Given the description of an element on the screen output the (x, y) to click on. 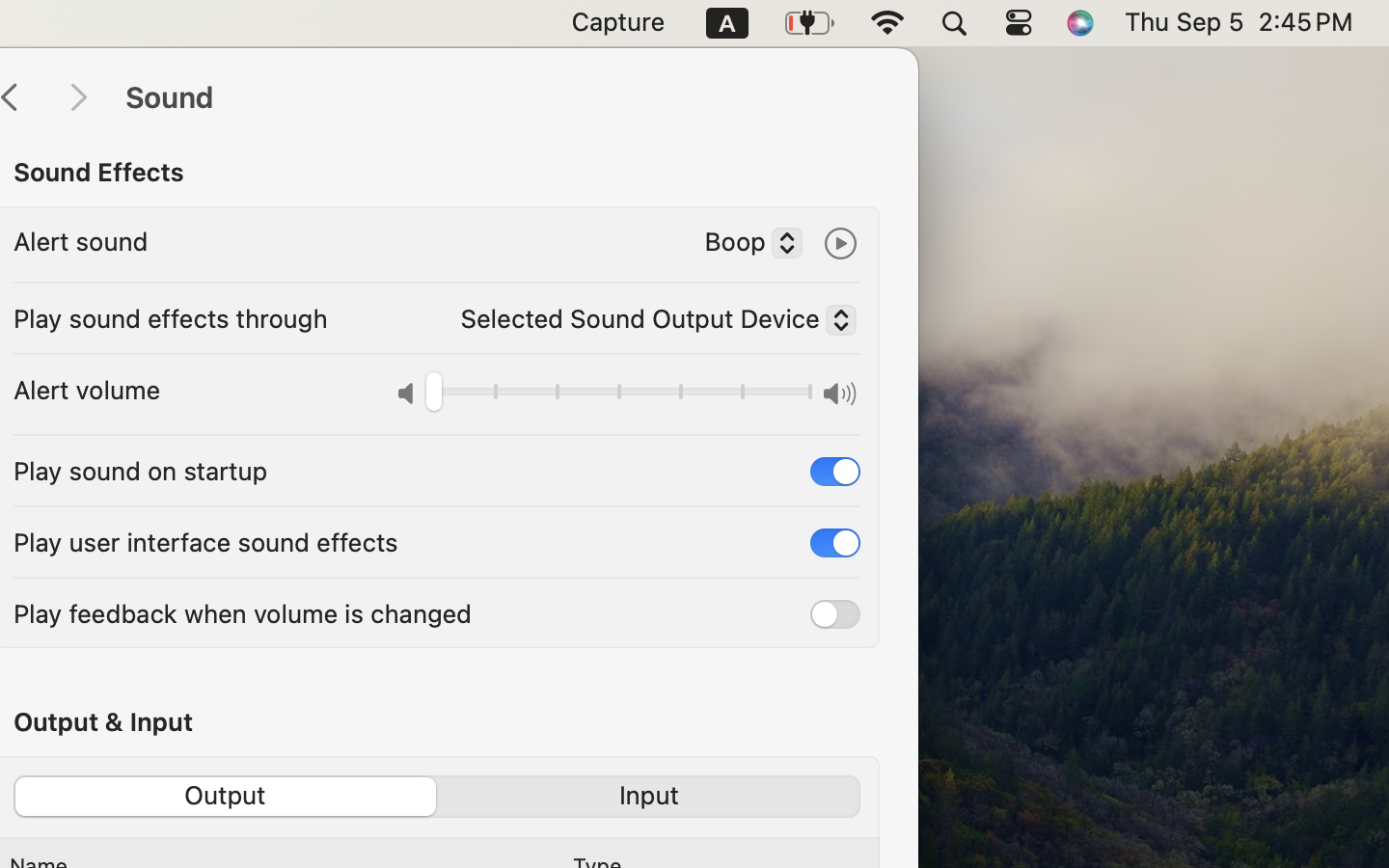
Sound Element type: AXStaticText (501, 98)
1 Element type: AXRadioButton (223, 796)
Play sound effects through Element type: AXStaticText (170, 317)
Play feedback when volume is changed Element type: AXStaticText (242, 612)
Play user interface sound effects Element type: AXStaticText (205, 541)
